Given the description of an element on the screen output the (x, y) to click on. 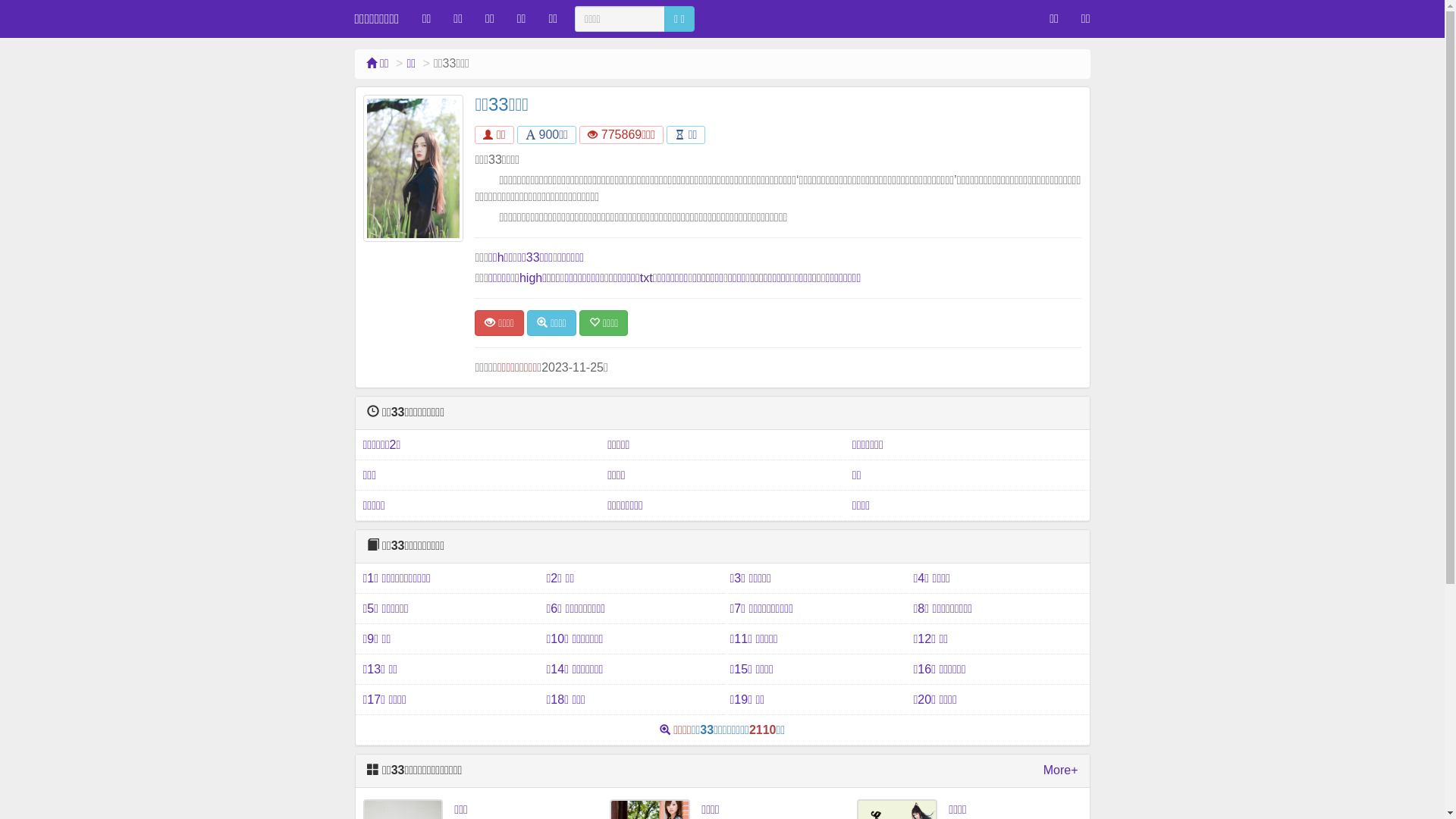
More+ Element type: text (1060, 770)
